Given the description of an element on the screen output the (x, y) to click on. 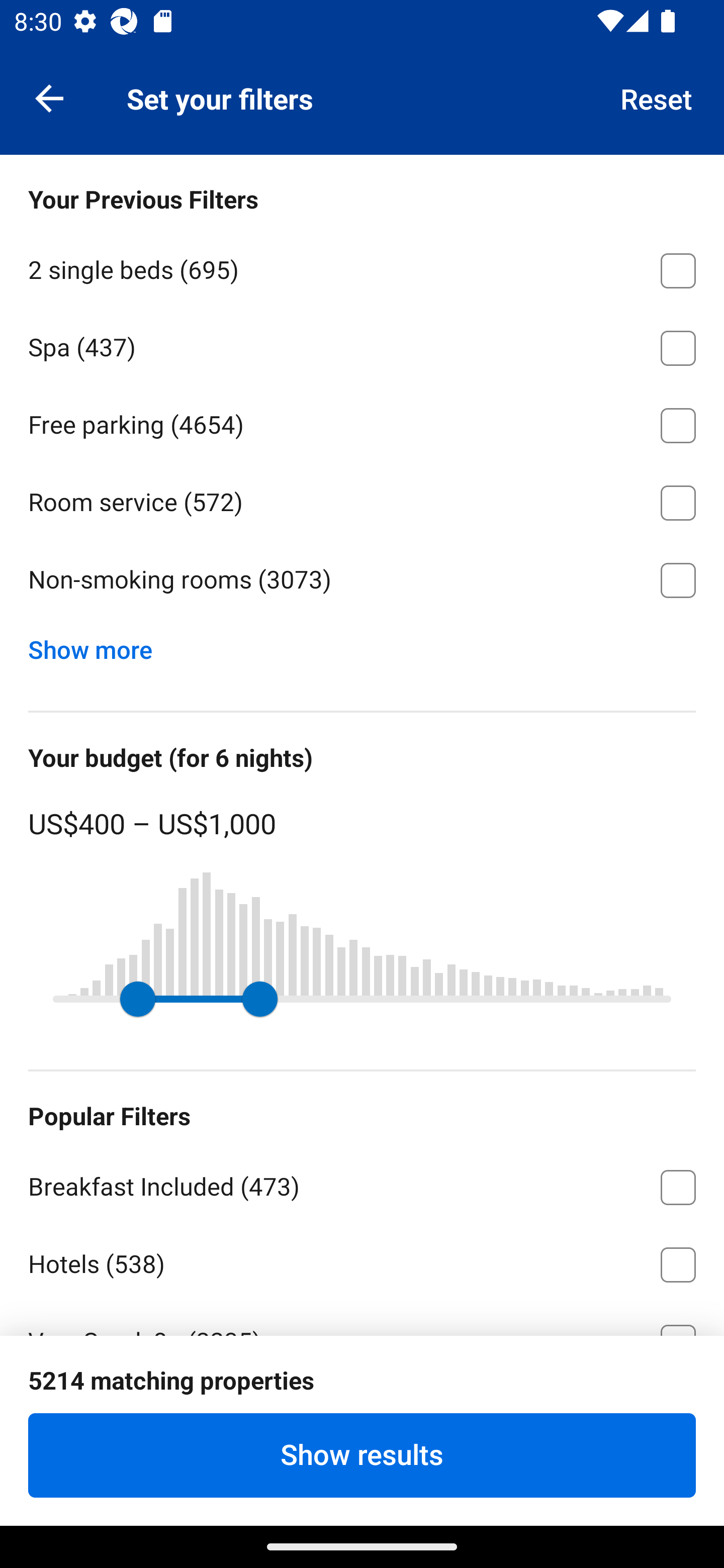
Navigate up (49, 97)
Reset (656, 97)
2 single beds ⁦(695) (361, 266)
Spa ⁦(437) (361, 344)
Free parking ⁦(4654) (361, 422)
Room service ⁦(572) (361, 498)
Non-smoking rooms ⁦(3073) (361, 579)
Show more (97, 645)
400.0 Range start,US$400 1000.0 Range end,US$1,000 (361, 998)
Breakfast Included ⁦(473) (361, 1183)
Hotels ⁦(538) (361, 1261)
Show results (361, 1454)
